Given the description of an element on the screen output the (x, y) to click on. 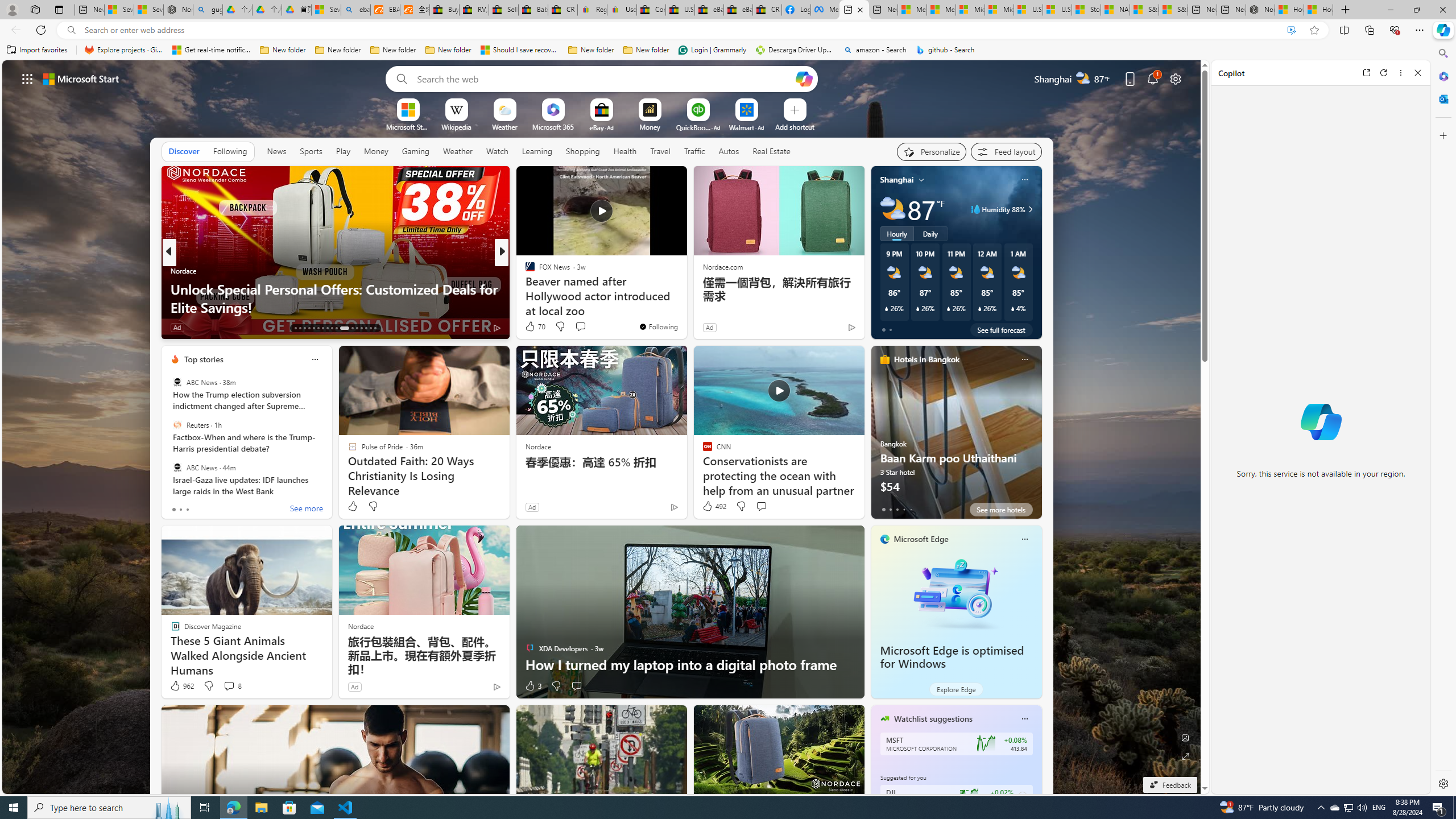
Notifications (1152, 78)
Copilot (Ctrl+Shift+.) (1442, 29)
eBay Inc. Reports Third Quarter 2023 Results (738, 9)
AutomationID: tab-14 (299, 328)
AutomationID: tab-16 (309, 328)
New folder (646, 49)
AutomationID: backgroundImagePicture (601, 426)
Expand background (1185, 756)
Partly cloudy (892, 208)
Nordace.com (722, 266)
AutomationID: tab-24 (352, 328)
